Given the description of an element on the screen output the (x, y) to click on. 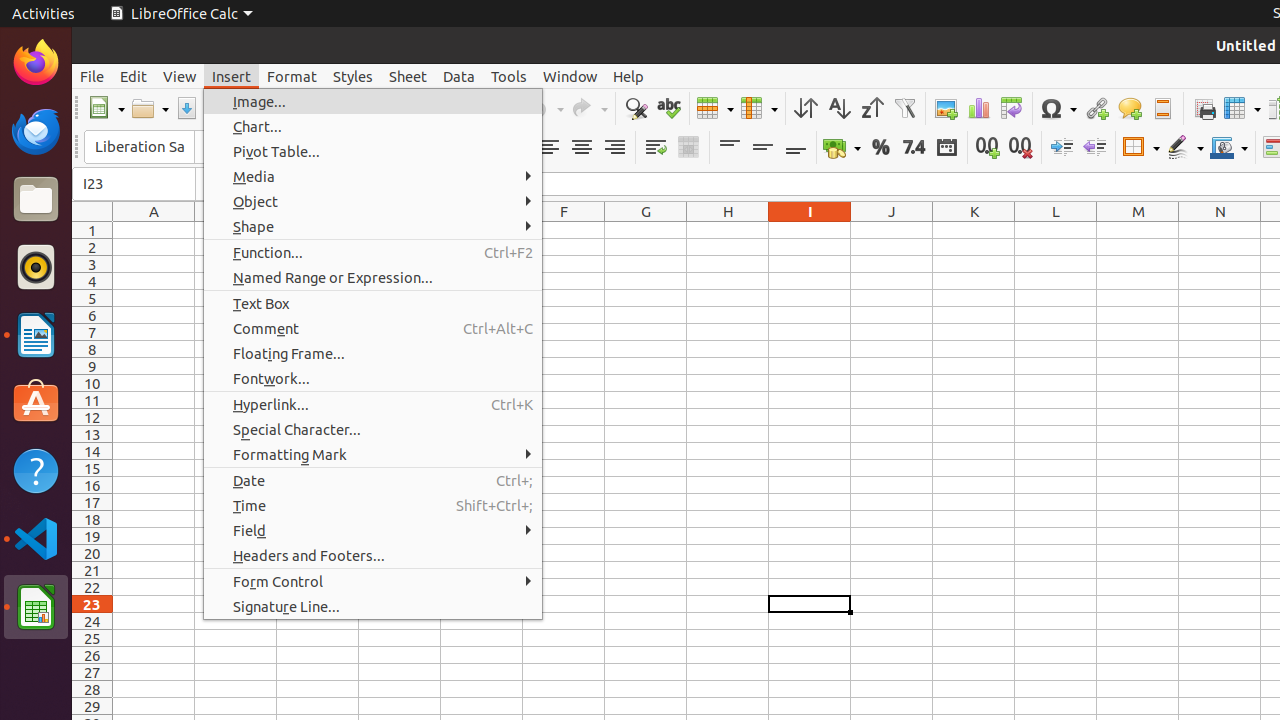
Formatting Mark Element type: menu (373, 454)
Symbol Element type: push-button (1058, 108)
Currency Element type: push-button (842, 147)
New Element type: push-button (106, 108)
Font Name Element type: text (139, 147)
